Given the description of an element on the screen output the (x, y) to click on. 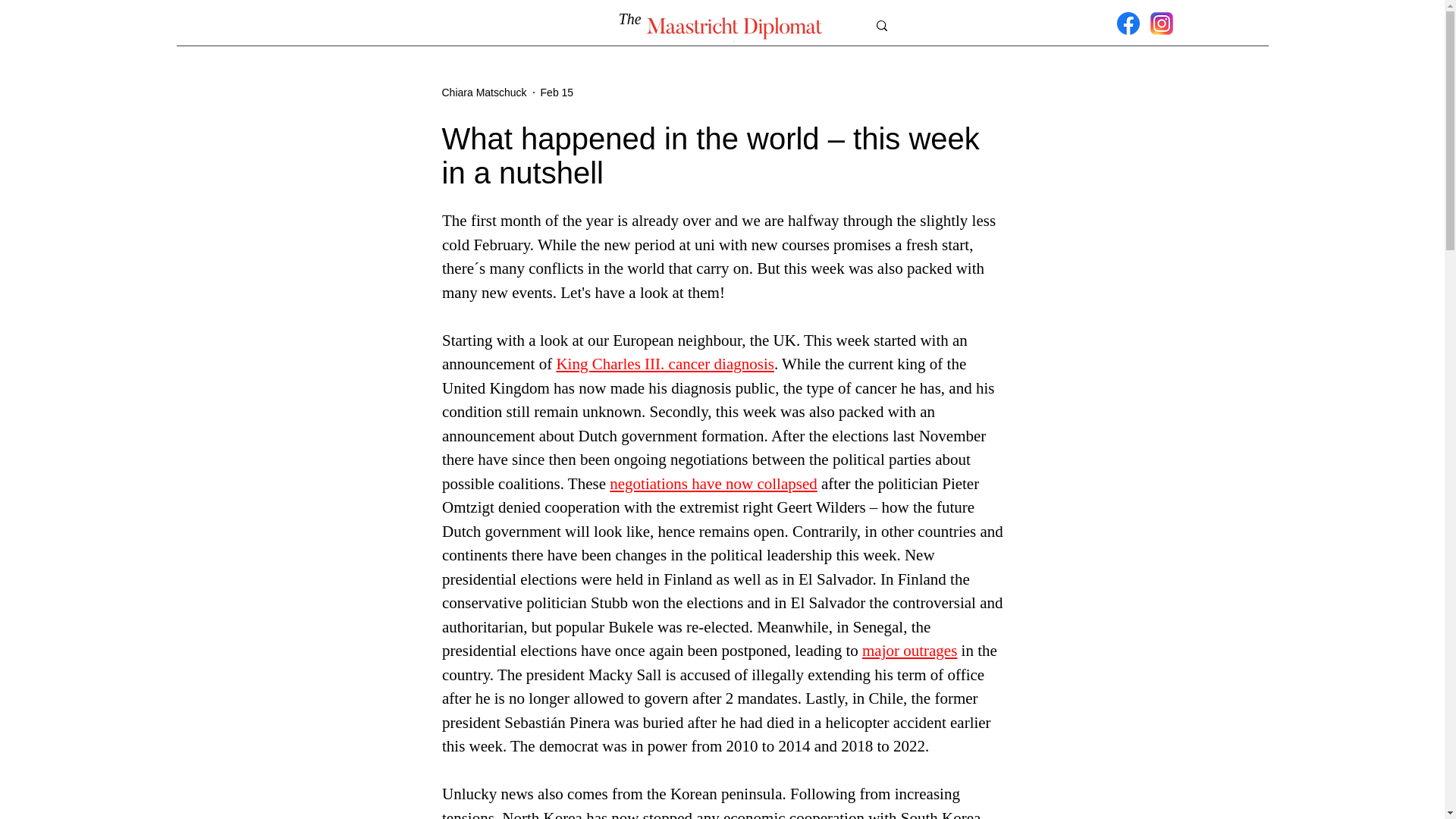
negotiations have now collapsed (713, 484)
King Charles III. cancer diagnosis (665, 363)
Chiara Matschuck (483, 92)
Feb 15 (556, 92)
Chiara Matschuck (483, 92)
major outrages (908, 650)
The (631, 18)
